Given the description of an element on the screen output the (x, y) to click on. 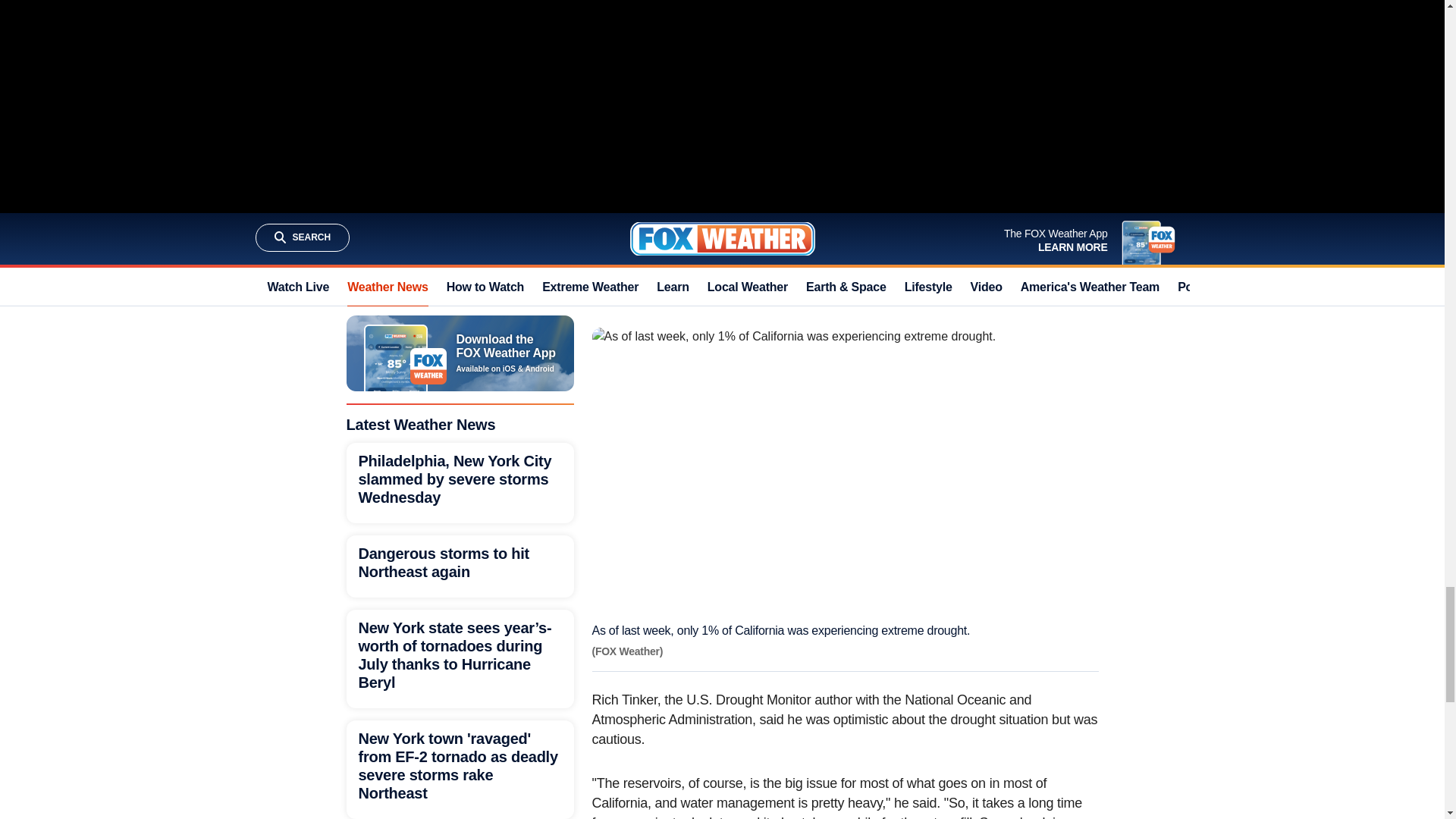
U.S. Drought Monitor (907, 209)
